Given the description of an element on the screen output the (x, y) to click on. 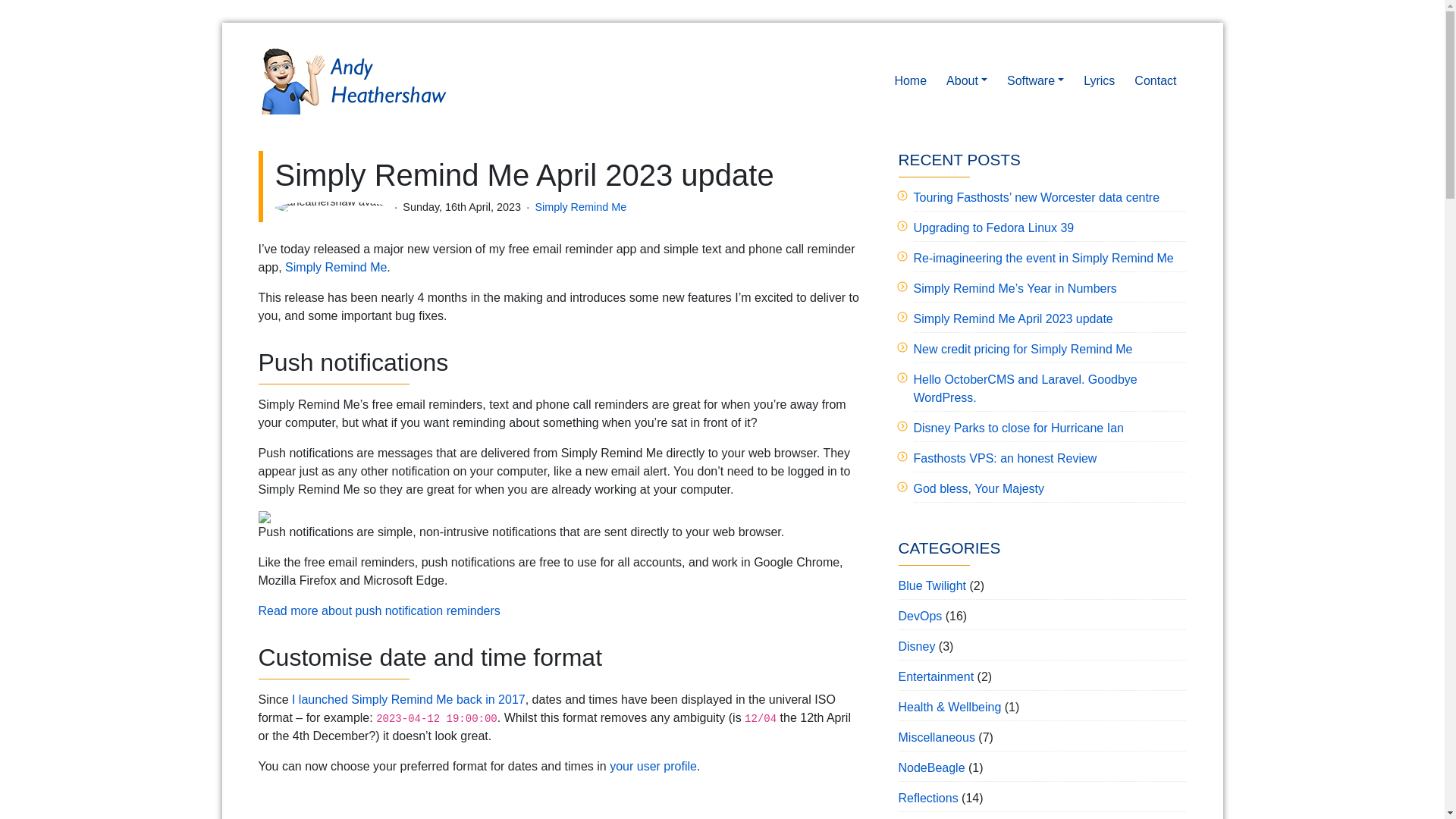
Read more about push notification reminders (378, 610)
Simply Remind Me (580, 206)
your user profile (653, 766)
Lyrics (1099, 80)
I launched Simply Remind Me back in 2017 (408, 698)
Simply Remind Me (336, 267)
About (966, 80)
Home (910, 80)
Upgrading to Fedora Linux 39 (993, 227)
Re-imagineering the event in Simply Remind Me (1042, 257)
